Given the description of an element on the screen output the (x, y) to click on. 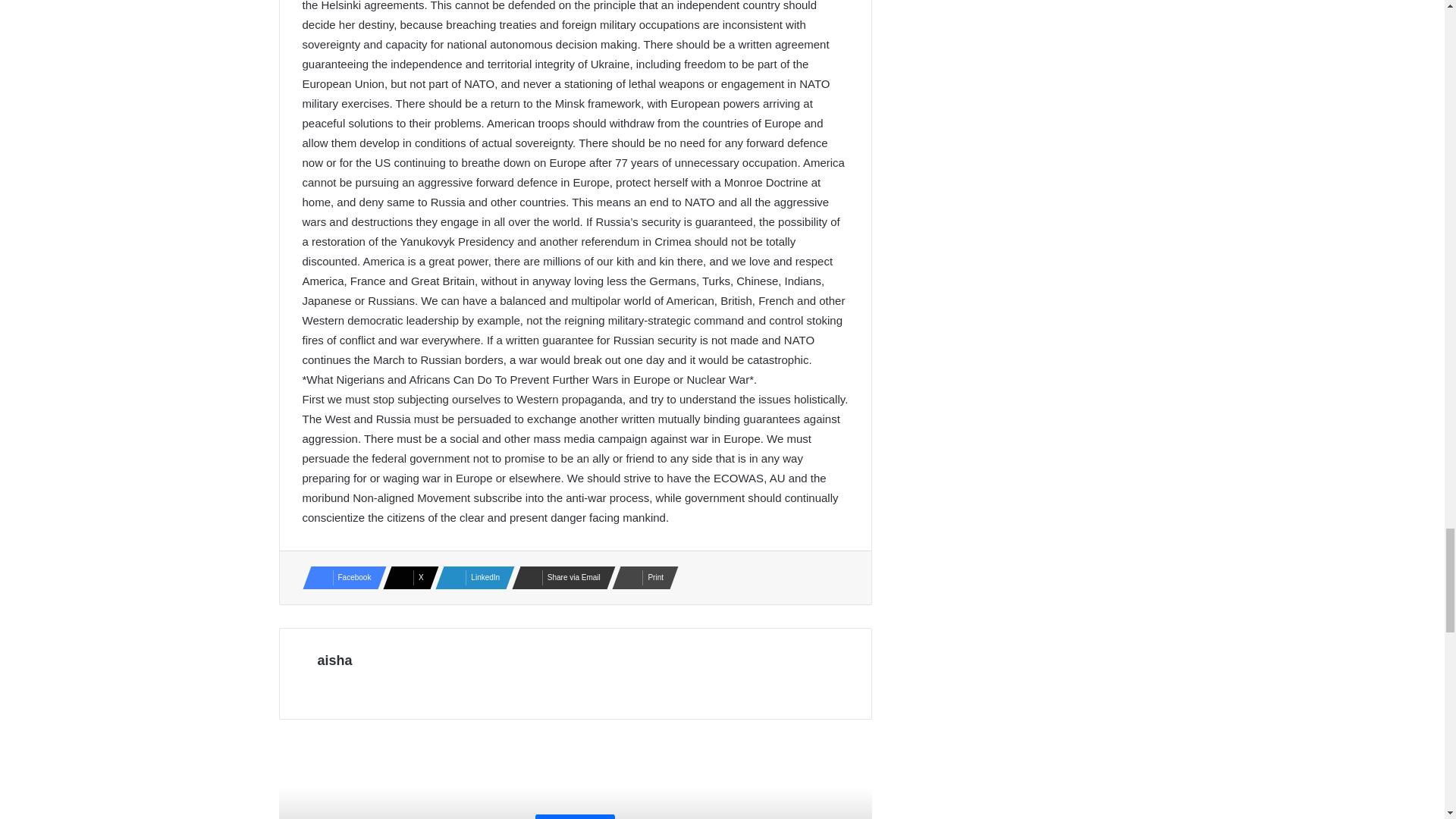
X (405, 577)
Facebook (339, 577)
Share via Email (559, 577)
X (405, 577)
Facebook (339, 577)
LinkedIn (470, 577)
Share via Email (559, 577)
LinkedIn (470, 577)
